Given the description of an element on the screen output the (x, y) to click on. 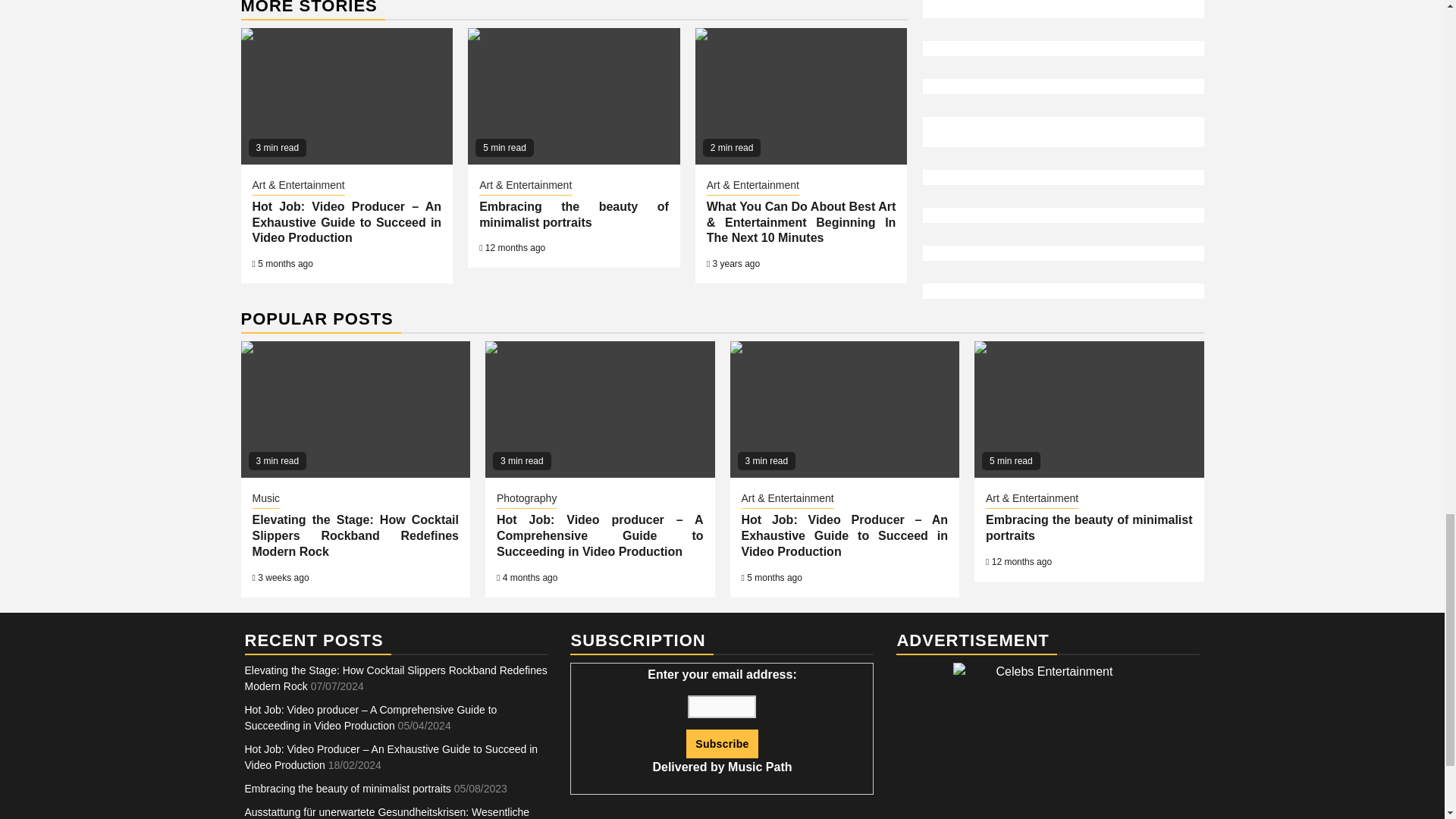
Subscribe (721, 743)
Embracing the beauty of minimalist portraits (573, 214)
Embracing the beauty of minimalist portraits 5 (573, 95)
